Given the description of an element on the screen output the (x, y) to click on. 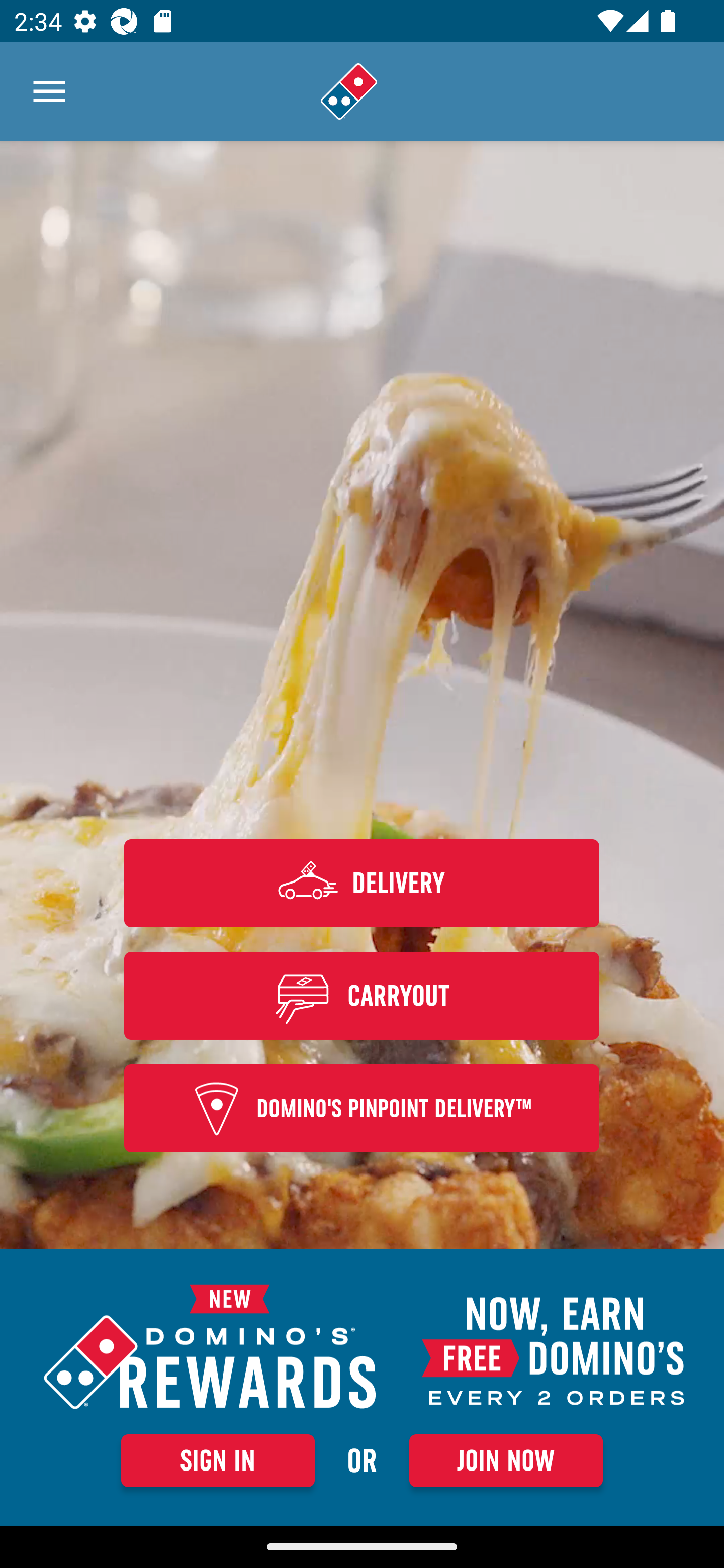
Expand Menu (49, 91)
DELIVERY (361, 882)
CARRYOUT (361, 995)
DOMINO'S PINPOINT DELIVERY™ (361, 1108)
SIGN IN (217, 1460)
JOIN NOW (506, 1460)
